Given the description of an element on the screen output the (x, y) to click on. 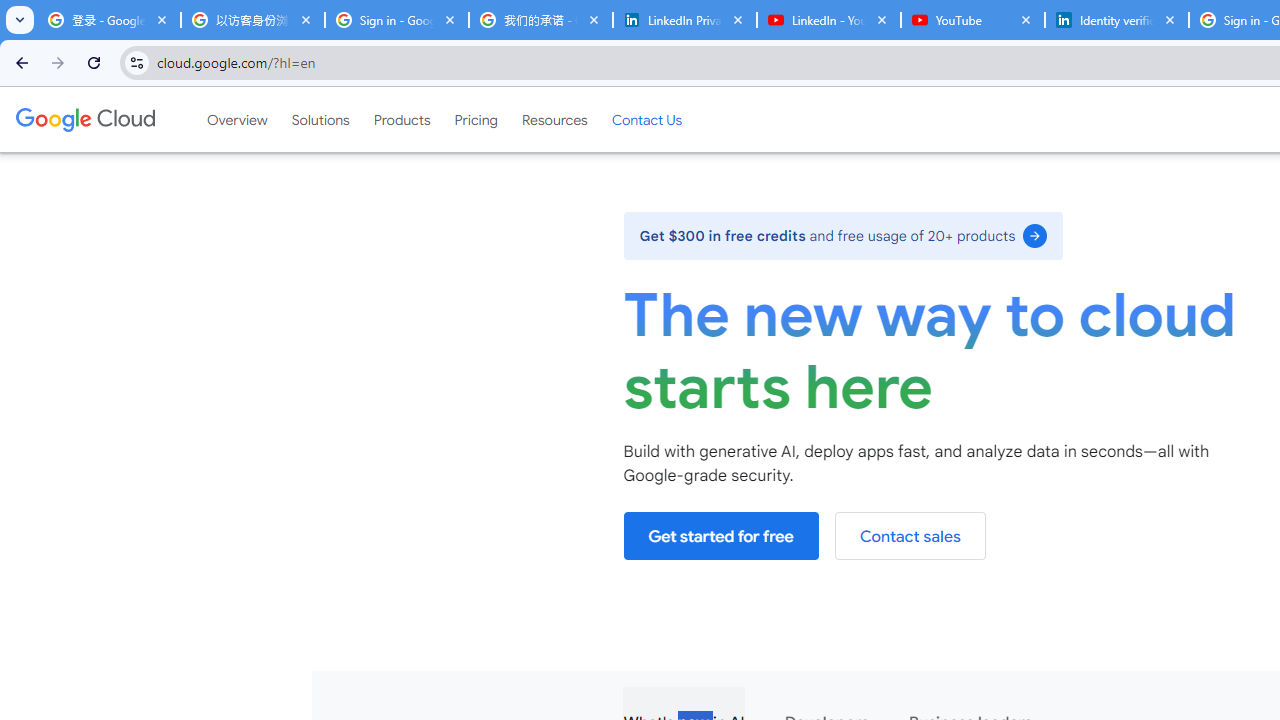
LinkedIn Privacy Policy (684, 20)
Solutions (320, 119)
YouTube (972, 20)
Contact sales (909, 535)
